Given the description of an element on the screen output the (x, y) to click on. 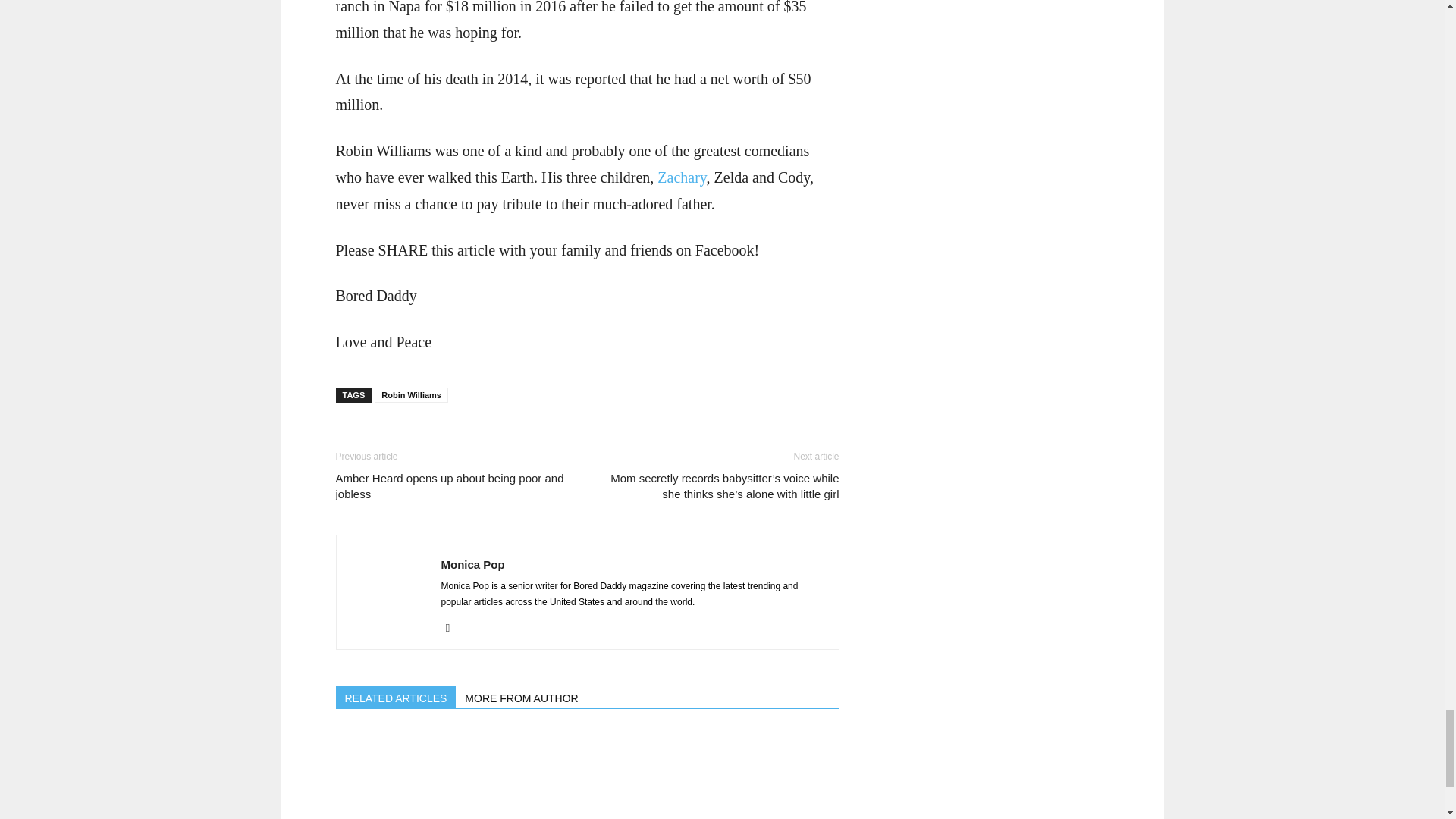
Instagram (453, 628)
bottomFacebookLike (448, 436)
